Given the description of an element on the screen output the (x, y) to click on. 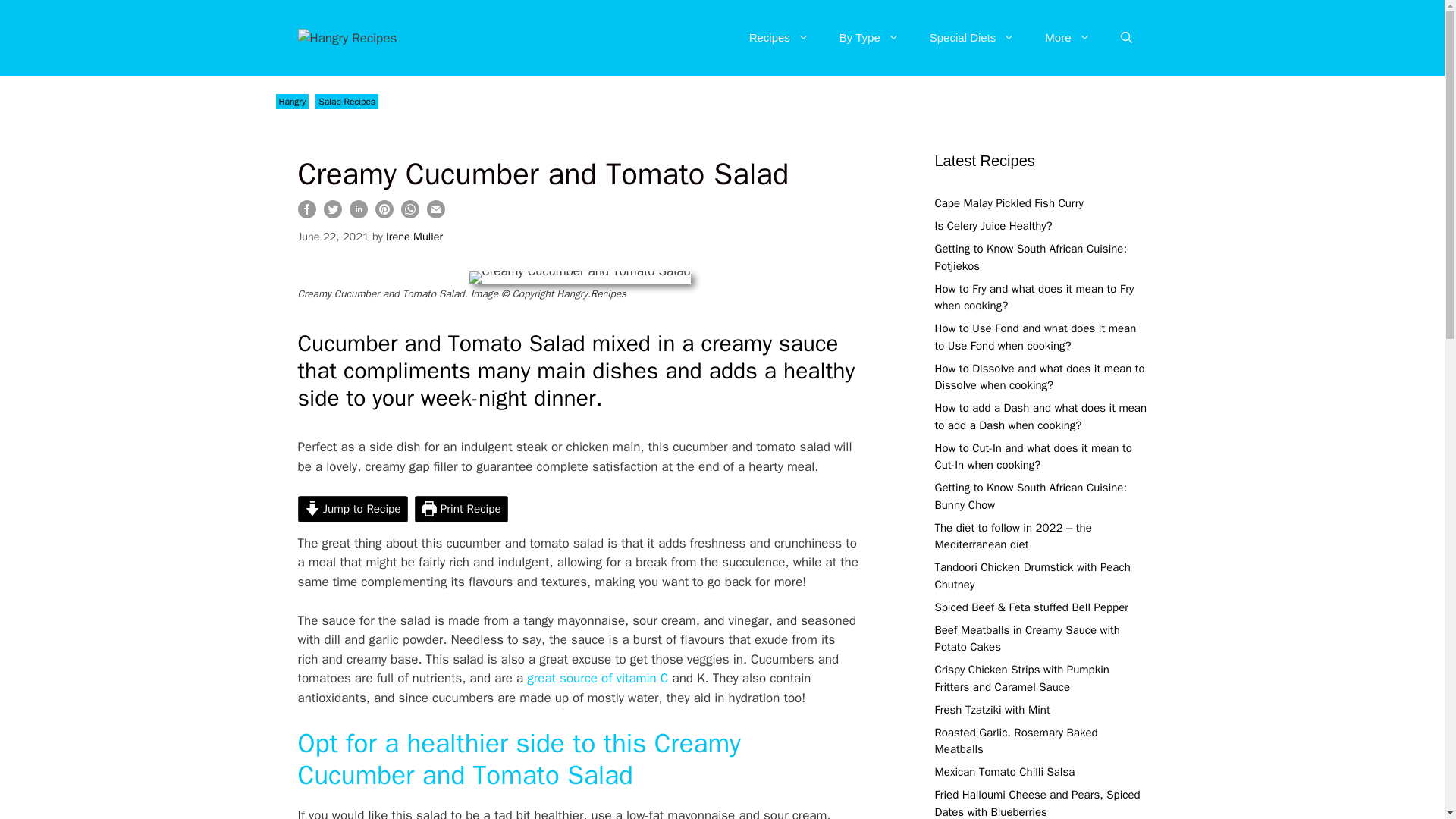
Tweet this post! (331, 213)
View all posts by Irene Muller (413, 236)
Recipes (778, 37)
Share this post! (357, 213)
Pin this post! (383, 213)
Share this post! (409, 213)
Share this post! (306, 213)
Email this post! (435, 213)
